Given the description of an element on the screen output the (x, y) to click on. 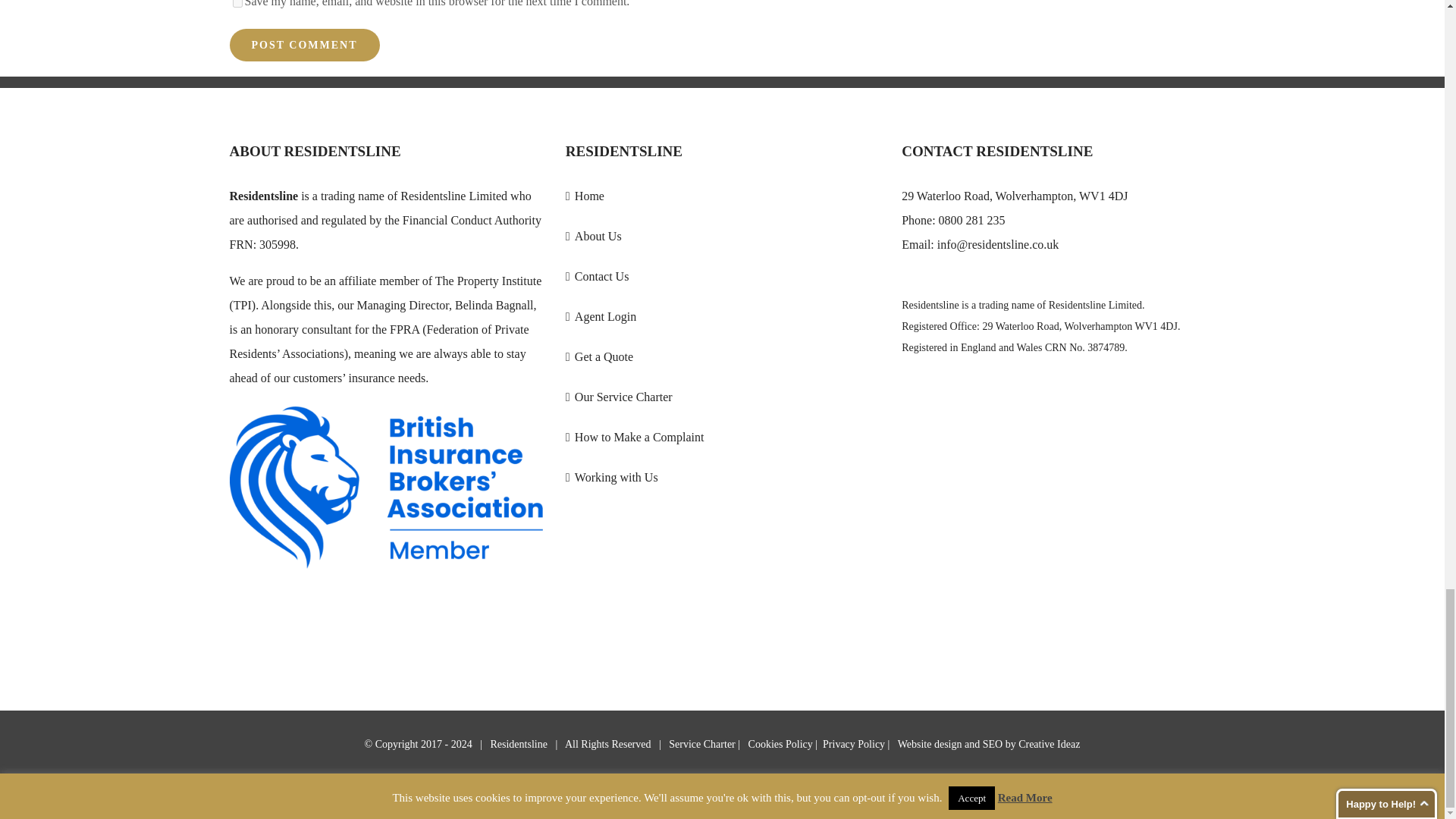
Post Comment (303, 44)
yes (236, 3)
